Given the description of an element on the screen output the (x, y) to click on. 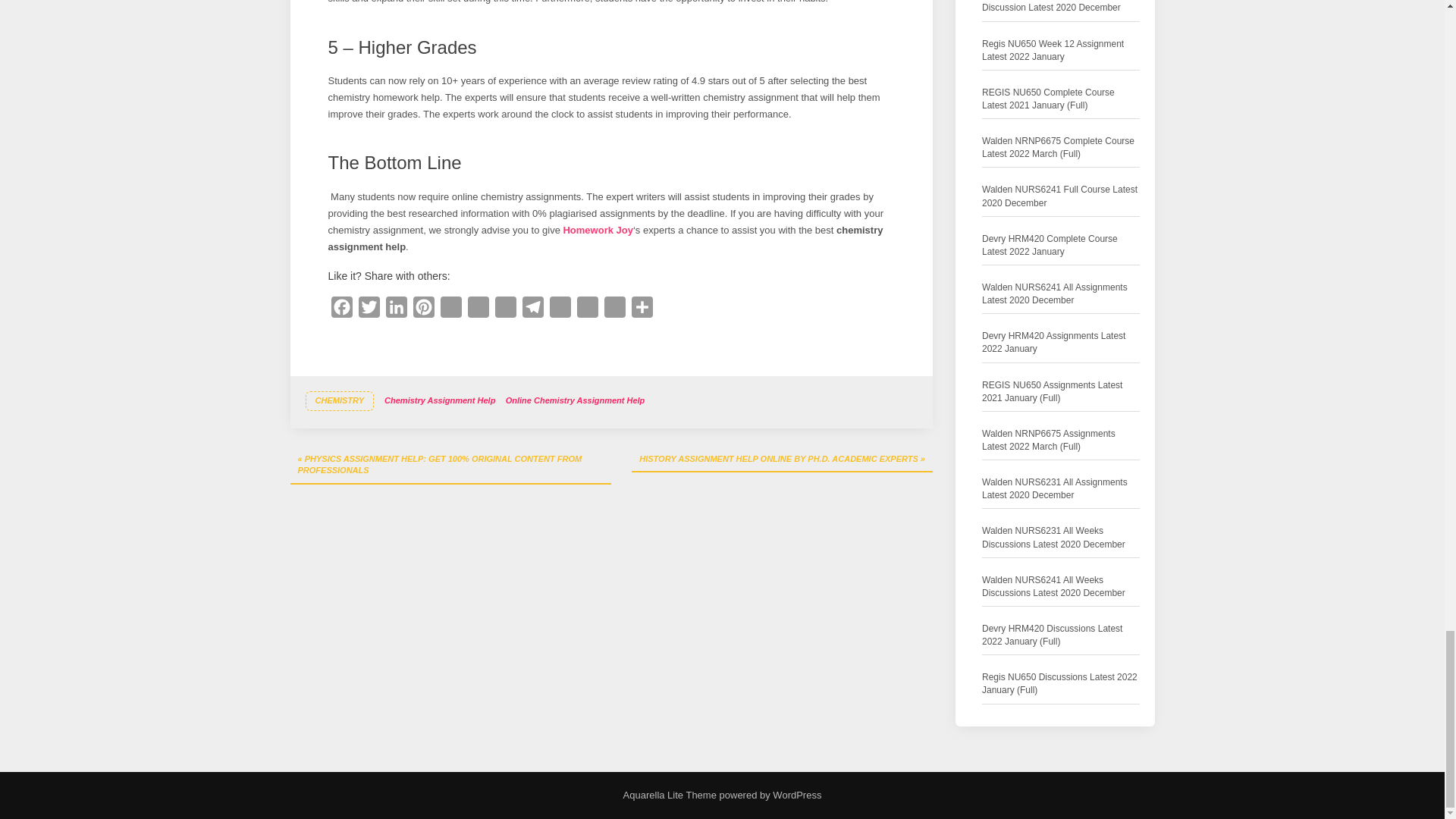
Telegram (532, 310)
LinkedIn (395, 310)
WhatsApp (450, 310)
Share (641, 310)
Homework Joy (596, 229)
LinkedIn (395, 310)
Chemistry Assignment Help (439, 401)
WeChat (559, 310)
Pinterest (422, 310)
Messenger (478, 310)
